Given the description of an element on the screen output the (x, y) to click on. 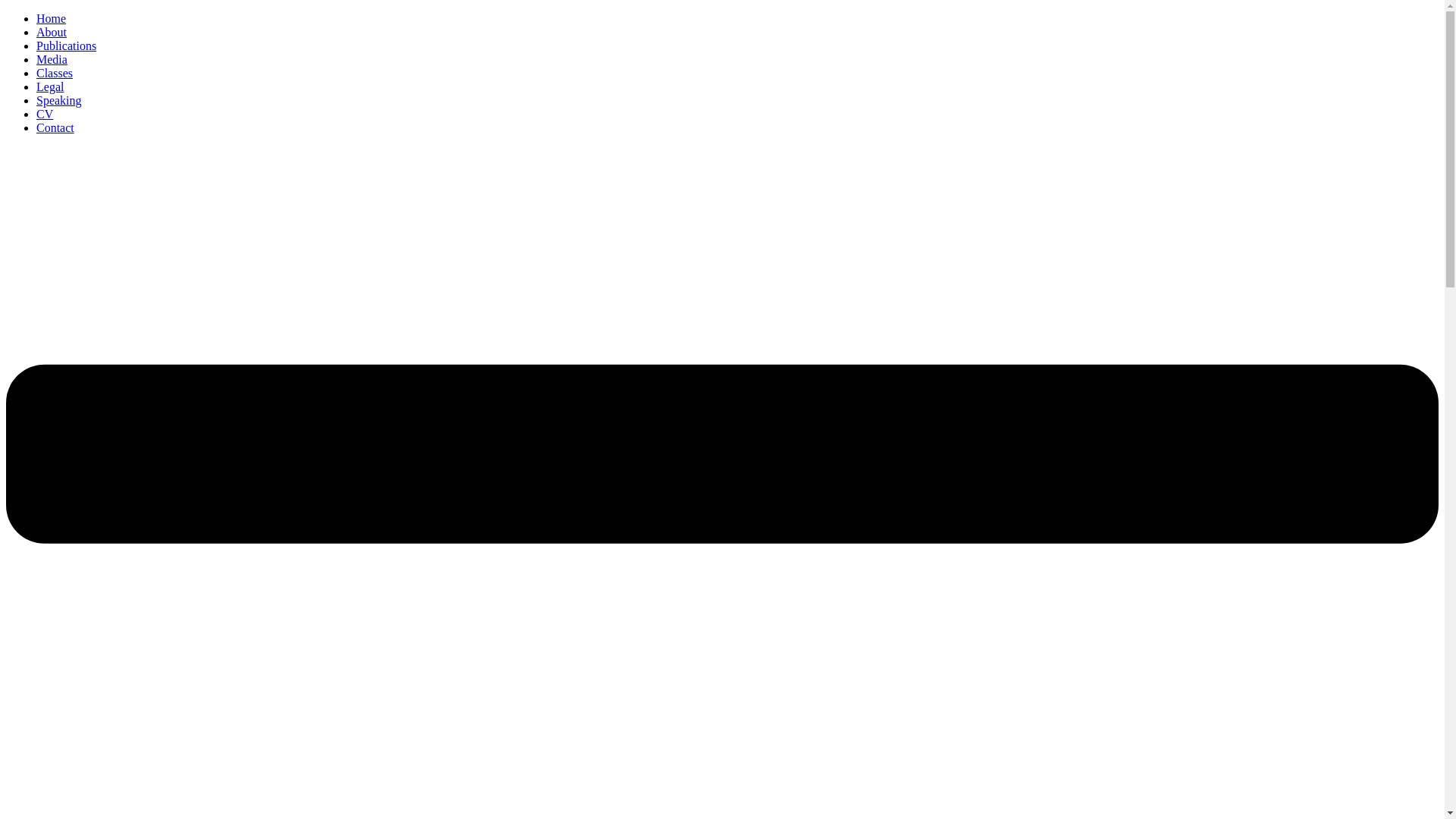
CV (44, 113)
Publications (66, 45)
Speaking (58, 100)
Contact (55, 127)
About (51, 31)
Media (51, 59)
Classes (54, 72)
Home (50, 18)
Legal (50, 86)
